Given the description of an element on the screen output the (x, y) to click on. 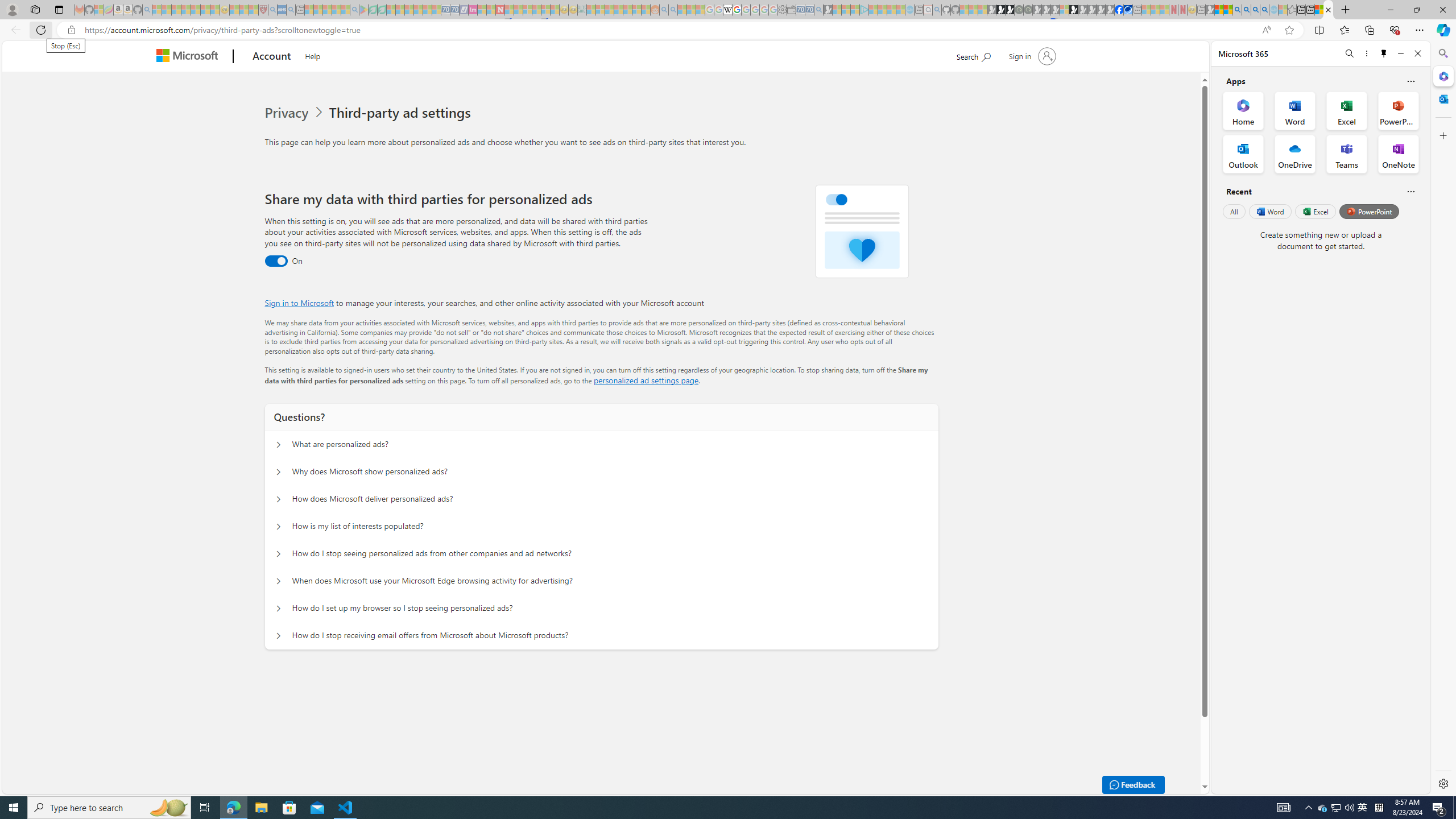
Local - MSN - Sleeping (253, 9)
Is this helpful? (1410, 191)
Questions? Why does Microsoft show personalized ads? (278, 472)
14 Common Myths Debunked By Scientific Facts - Sleeping (518, 9)
Third party data sharing toggle (276, 260)
Home Office App (1243, 110)
Bing AI - Search (1236, 9)
Cheap Car Rentals - Save70.com - Sleeping (809, 9)
